Given the description of an element on the screen output the (x, y) to click on. 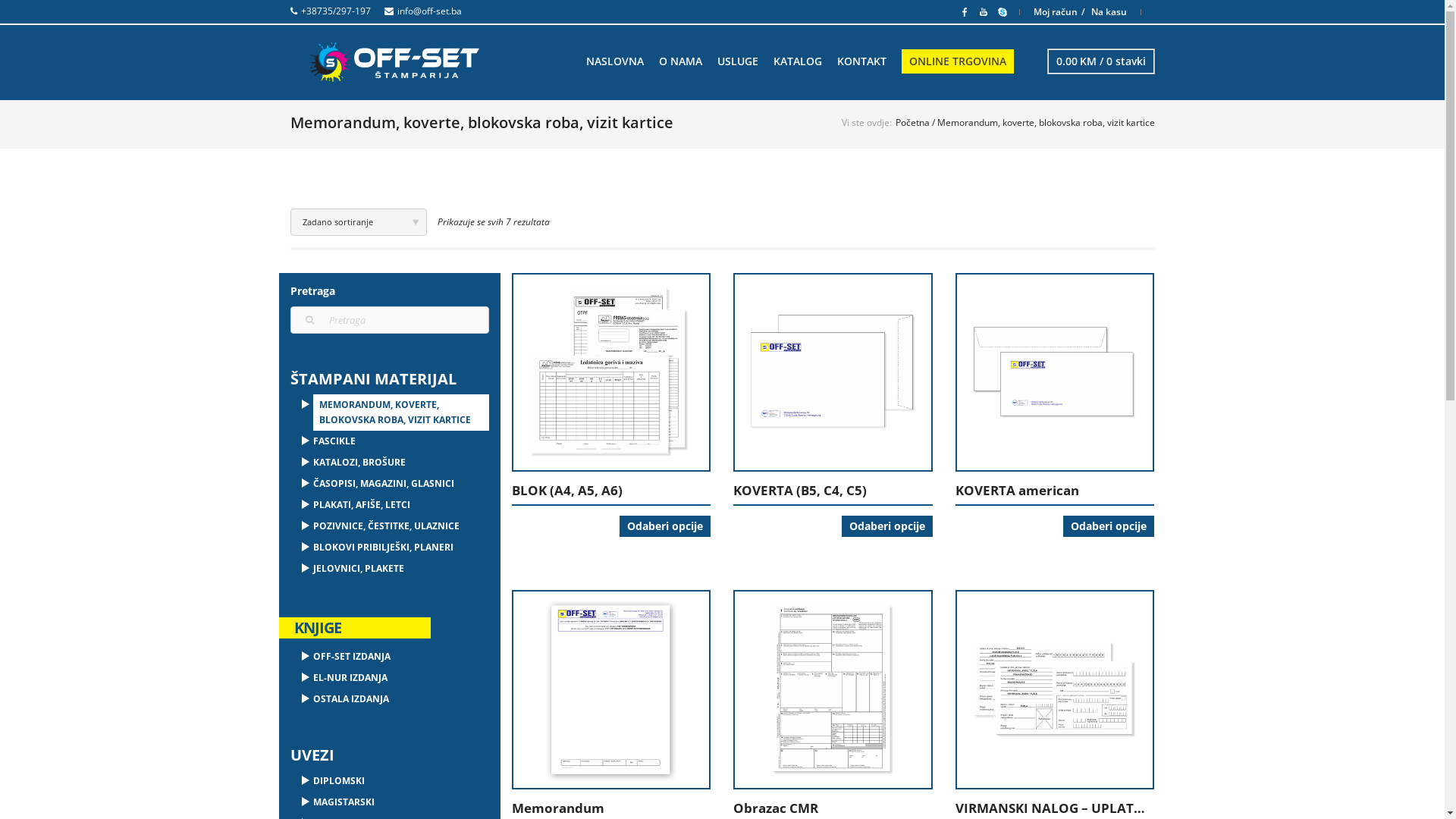
ONLINE TRGOVINA Element type: text (956, 61)
Odaberi opcije Element type: text (886, 525)
KOVERTA american Element type: text (1054, 490)
Odaberi opcije Element type: text (664, 525)
KONTAKT Element type: text (861, 62)
Youtube Element type: text (982, 10)
OFF-SET d.o.o. Tuzla Element type: hover (393, 62)
Memorandum Element type: text (610, 807)
BLOK (A4, A5, A6) Element type: text (610, 490)
Na kasu Element type: text (1108, 11)
KATALOG Element type: text (797, 62)
MAGISTARSKI Element type: text (400, 801)
Obrazac CMR Element type: text (832, 807)
USLUGE Element type: text (737, 62)
Facebook Element type: text (964, 10)
OSTALA IZDANJA Element type: text (400, 698)
JELOVNICI, PLAKETE Element type: text (400, 568)
NASLOVNA Element type: text (614, 62)
OFF-SET IZDANJA Element type: text (400, 656)
info@off-set.ba Element type: text (429, 10)
FASCIKLE Element type: text (400, 440)
Odaberi opcije Element type: text (1108, 525)
O NAMA Element type: text (679, 62)
EL-NUR IZDANJA Element type: text (400, 677)
MEMORANDUM, KOVERTE, BLOKOVSKA ROBA, VIZIT KARTICE Element type: text (400, 412)
Skip to primary content Element type: text (641, 60)
KOVERTA (B5, C4, C5) Element type: text (832, 490)
Skype Element type: text (1002, 10)
DIPLOMSKI Element type: text (400, 780)
Skip to secondary content Element type: text (647, 60)
